Given the description of an element on the screen output the (x, y) to click on. 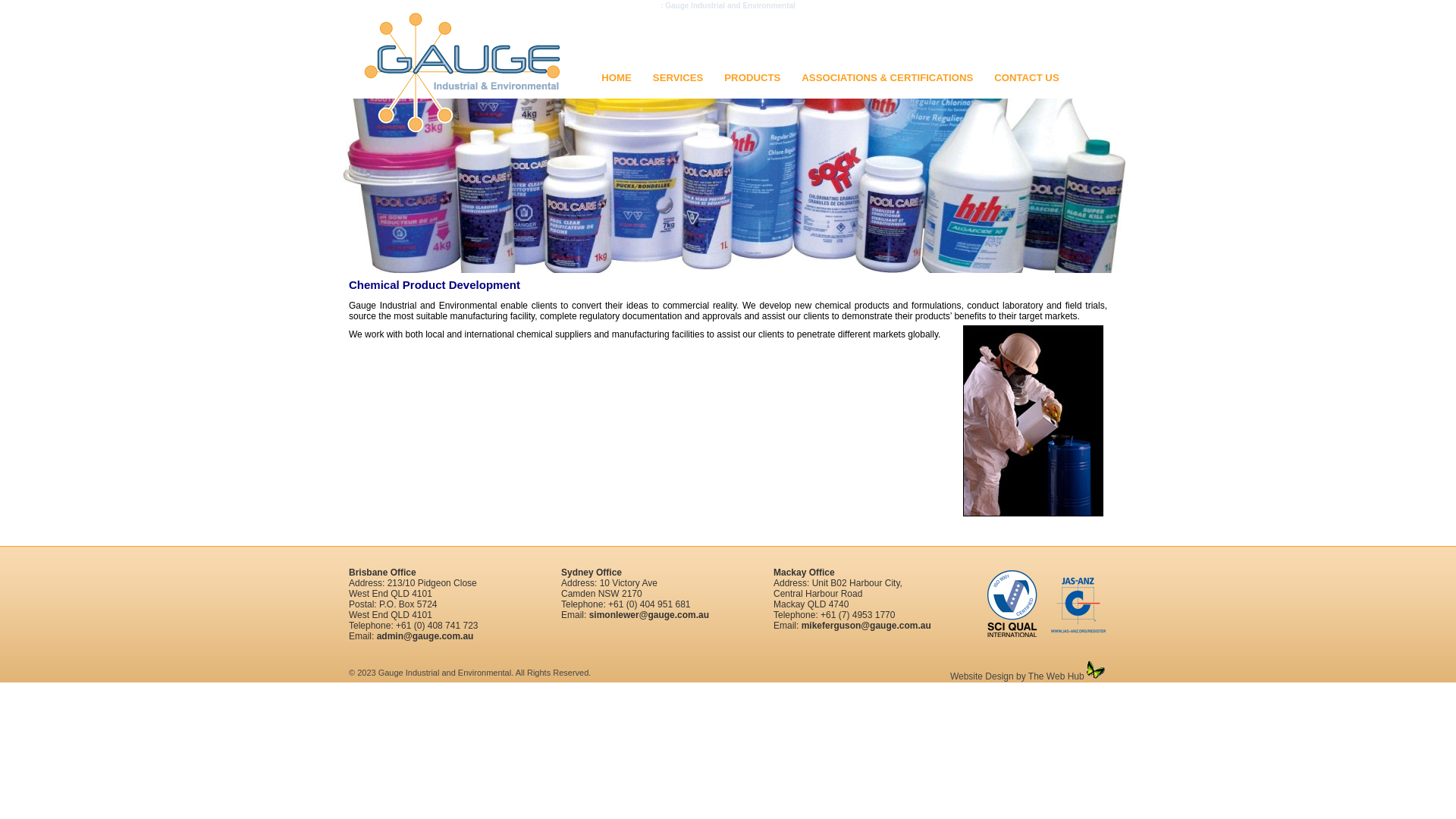
HOME Element type: text (616, 77)
simonlewer@gauge.com.au Element type: text (649, 614)
SERVICES Element type: text (677, 77)
admin@gauge.com.au Element type: text (424, 635)
Gauge Industrial and Environmental  Element type: hover (461, 72)
Website Designed and Created by The Web Hub Element type: hover (1096, 670)
mikeferguson@gauge.com.au Element type: text (866, 625)
CONTACT US Element type: text (1026, 77)
PRODUCTS Element type: text (751, 77)
Website Design by The Web Hub Element type: text (1017, 676)
SCiQual Element type: hover (1045, 604)
ASSOCIATIONS & CERTIFICATIONS Element type: text (886, 77)
